Given the description of an element on the screen output the (x, y) to click on. 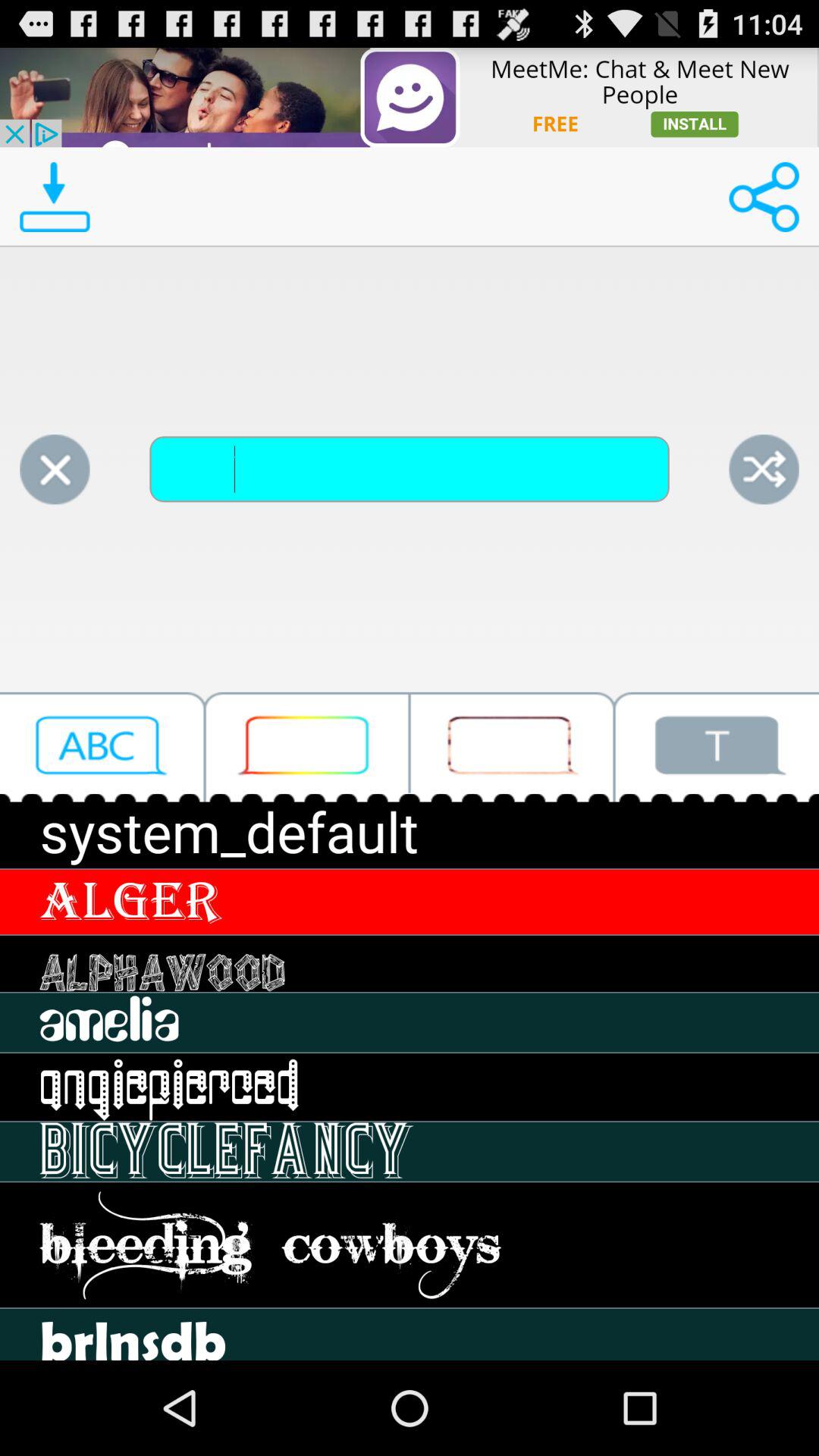
open the font selection menu (102, 746)
